Given the description of an element on the screen output the (x, y) to click on. 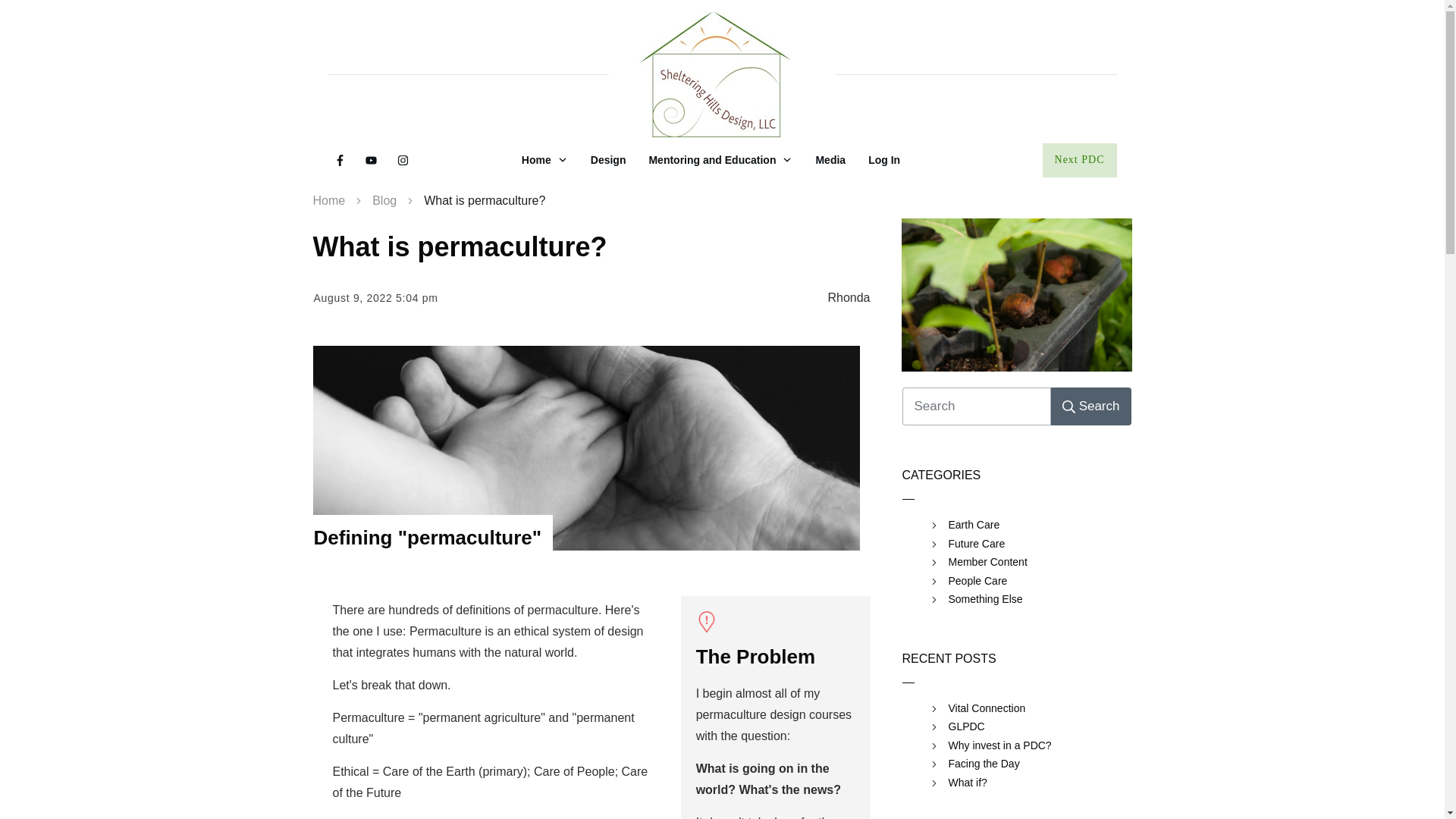
Next PDC (1079, 160)
What is permaculture? (460, 246)
Something Else (984, 599)
Media (830, 159)
Home (329, 200)
Future Care (975, 543)
What is permaculture? (460, 246)
Design (608, 159)
Blog (384, 200)
Member Content (986, 561)
Vital Connection (986, 708)
Log In (883, 159)
Home (544, 159)
GLPDC (965, 726)
What is permaculture? (1016, 295)
